Given the description of an element on the screen output the (x, y) to click on. 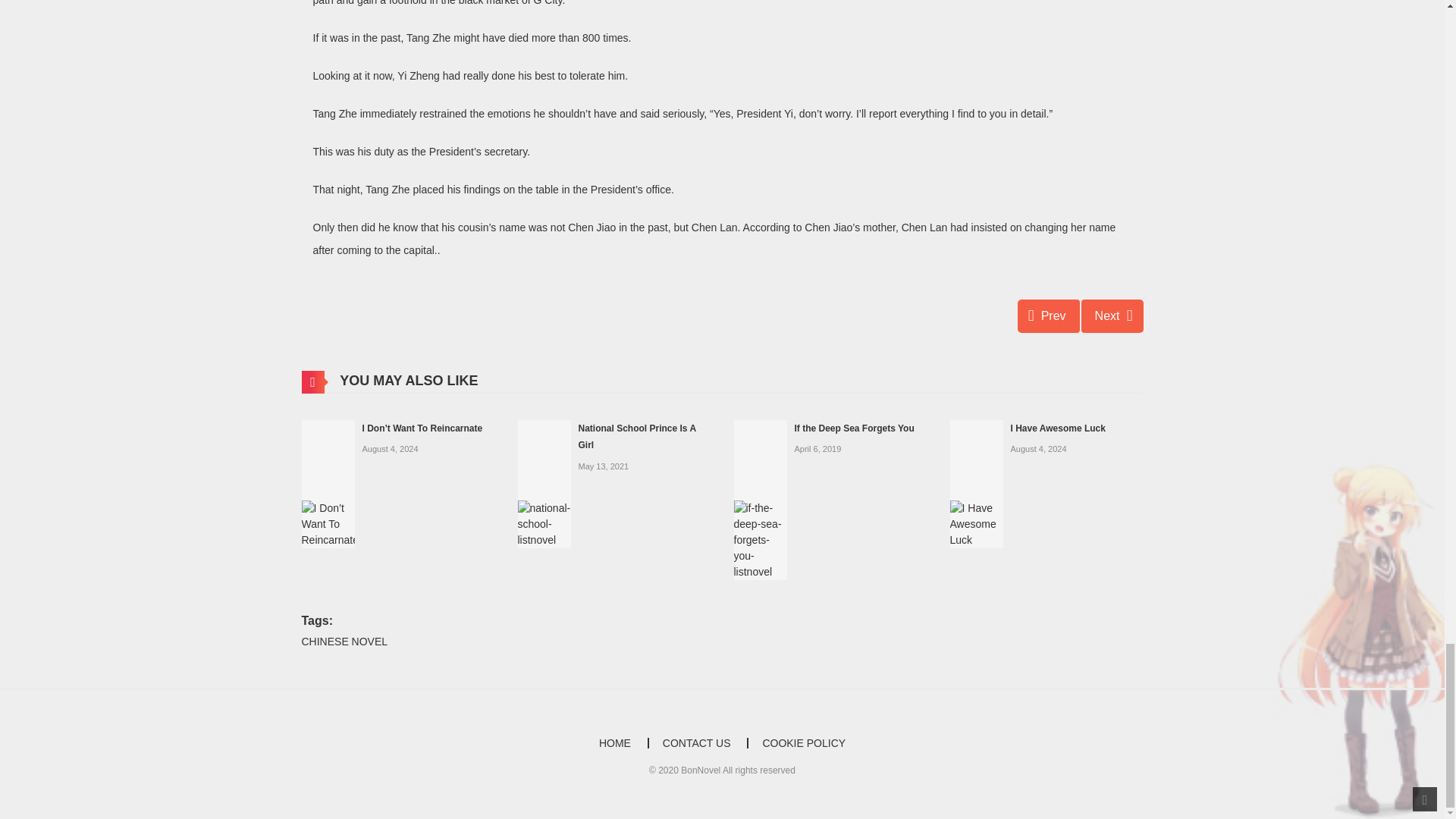
National School Prince Is A Girl (636, 437)
I Have Awesome Luck (976, 482)
If the Deep Sea Forgets You (854, 428)
National School Prince Is A Girl (543, 482)
If the Deep Sea Forgets You (760, 499)
Chapter 722 (1048, 315)
Chapter 724 (1111, 315)
